Given the description of an element on the screen output the (x, y) to click on. 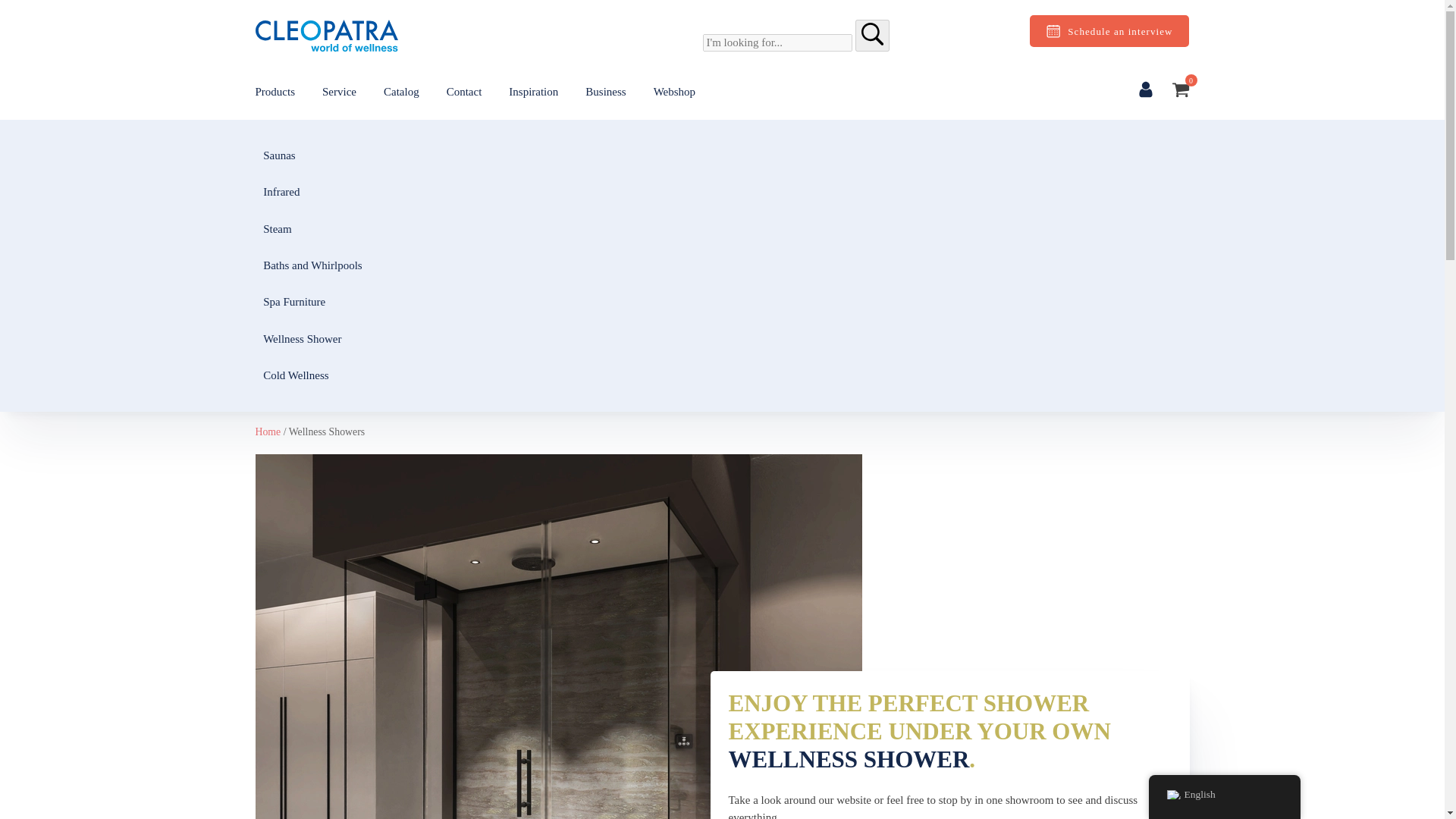
Schedule an interview (1109, 30)
Contact (463, 91)
Catalog (401, 91)
English (1172, 794)
Service (338, 91)
search (872, 33)
Products (274, 91)
Business (605, 91)
search (872, 35)
Webshop (674, 91)
Inspiration (532, 91)
